Given the description of an element on the screen output the (x, y) to click on. 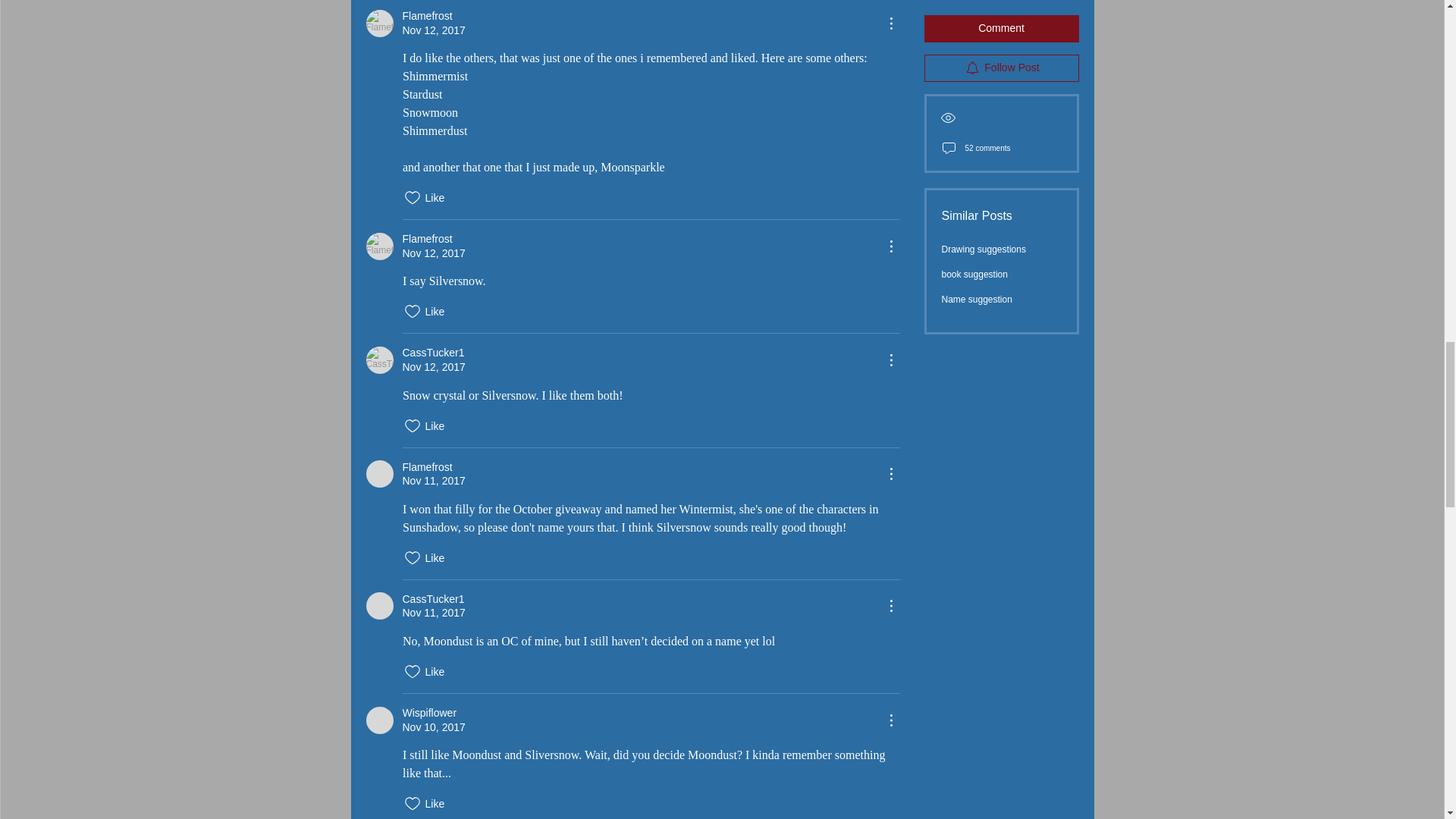
CassTucker1 (379, 605)
Flamefrost (379, 246)
Wispiflower  (379, 719)
CassTucker1 (379, 359)
Flamefrost (379, 473)
Flamefrost (379, 22)
